Given the description of an element on the screen output the (x, y) to click on. 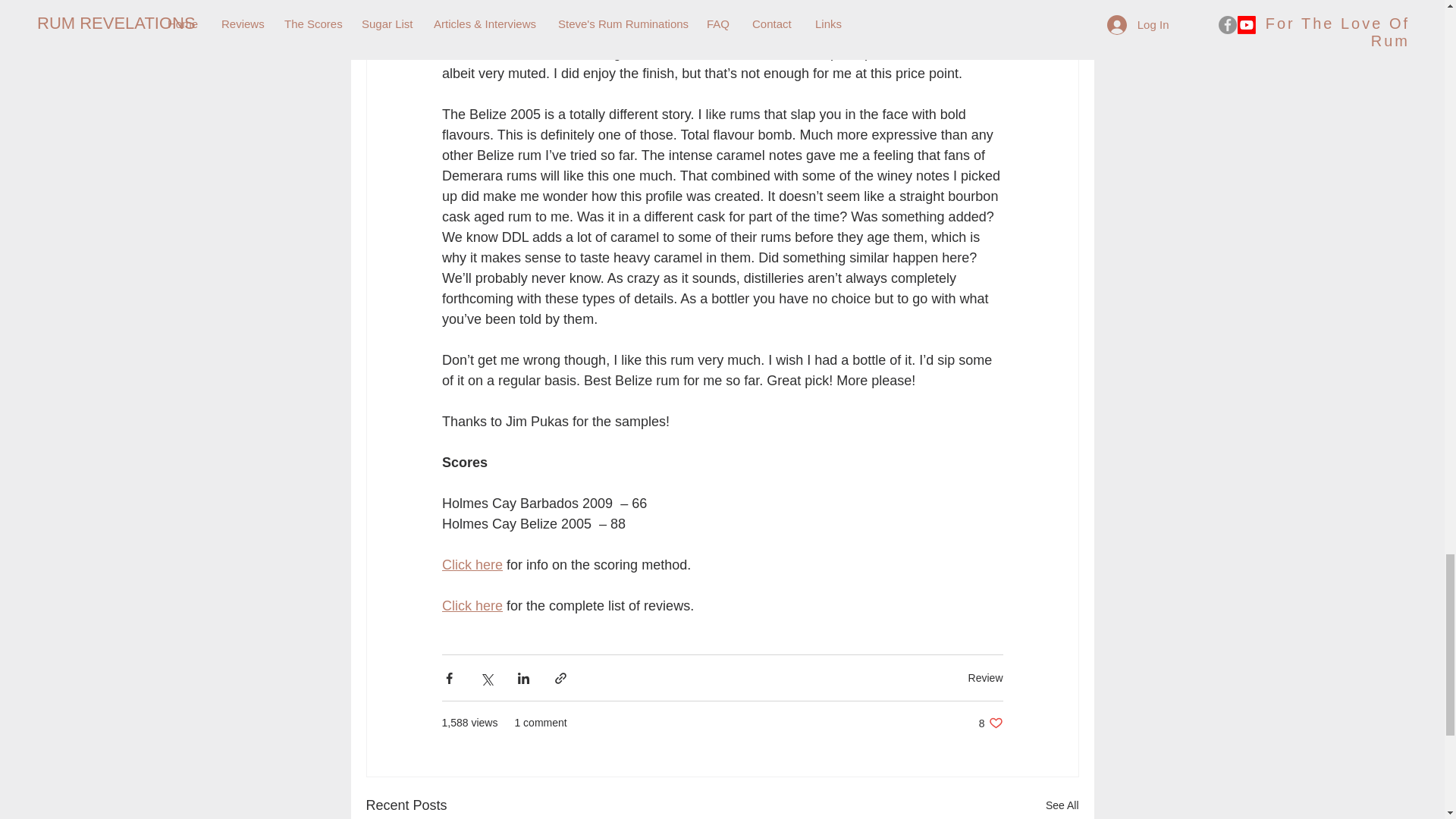
Click here (471, 564)
Review (985, 677)
Click here (471, 605)
See All (990, 722)
